Given the description of an element on the screen output the (x, y) to click on. 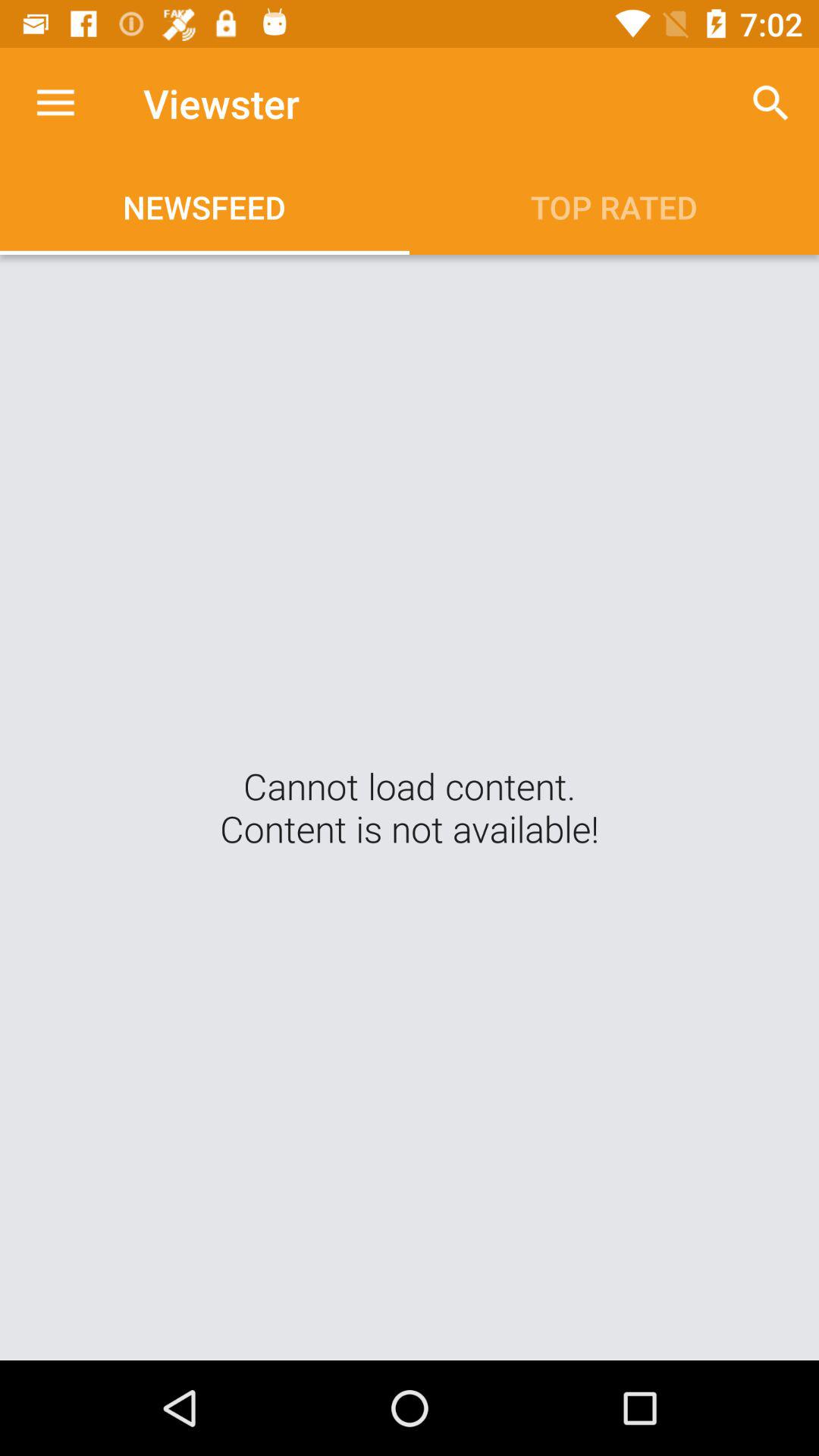
click the app next to viewster app (55, 103)
